Given the description of an element on the screen output the (x, y) to click on. 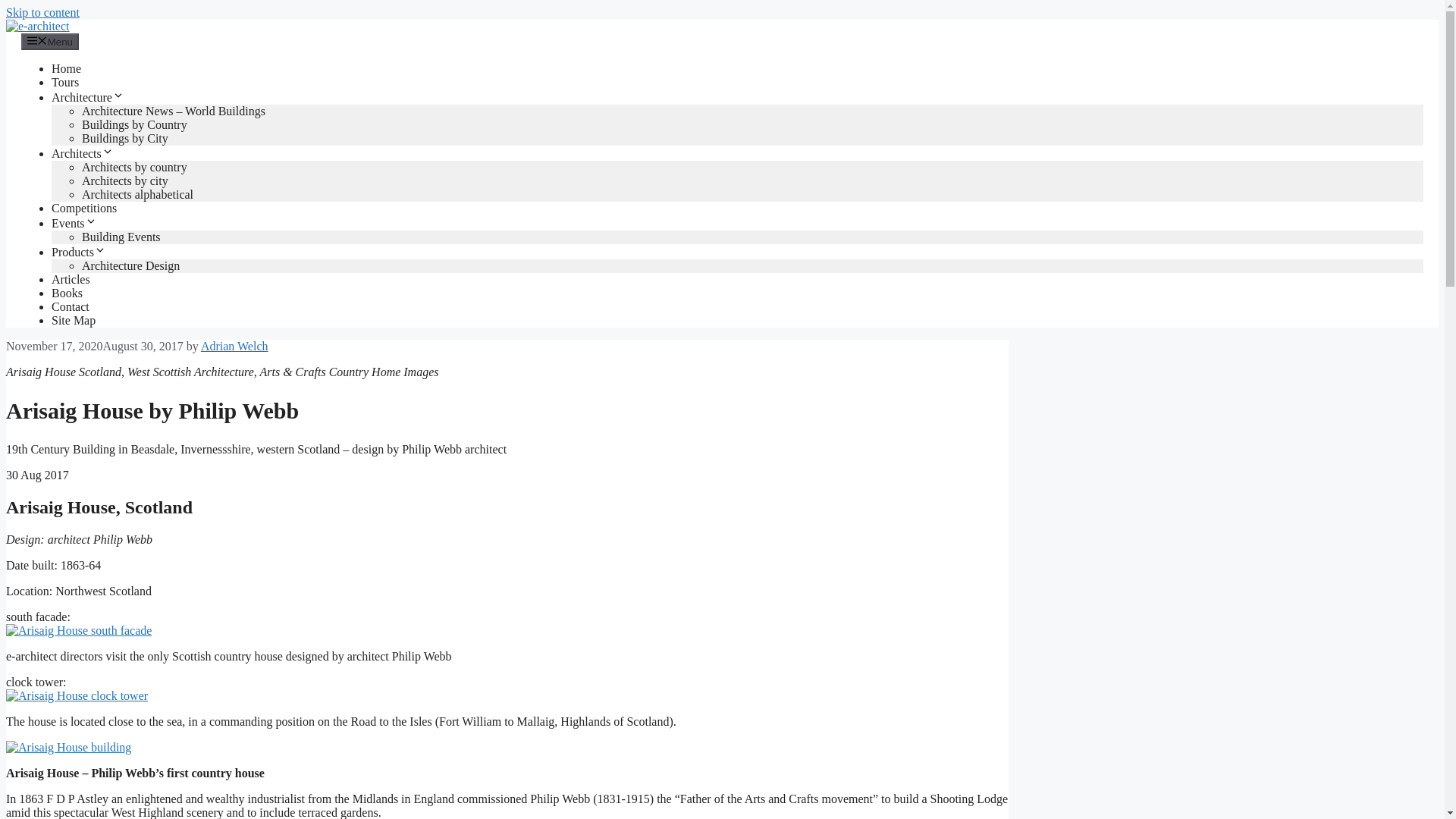
Books (66, 292)
View all posts by Adrian Welch (233, 345)
Home (65, 68)
Articles (70, 278)
Architects (81, 153)
Architects alphabetical (137, 194)
Tours (64, 82)
Skip to content (42, 11)
Buildings by City (124, 137)
Contact (69, 306)
